Given the description of an element on the screen output the (x, y) to click on. 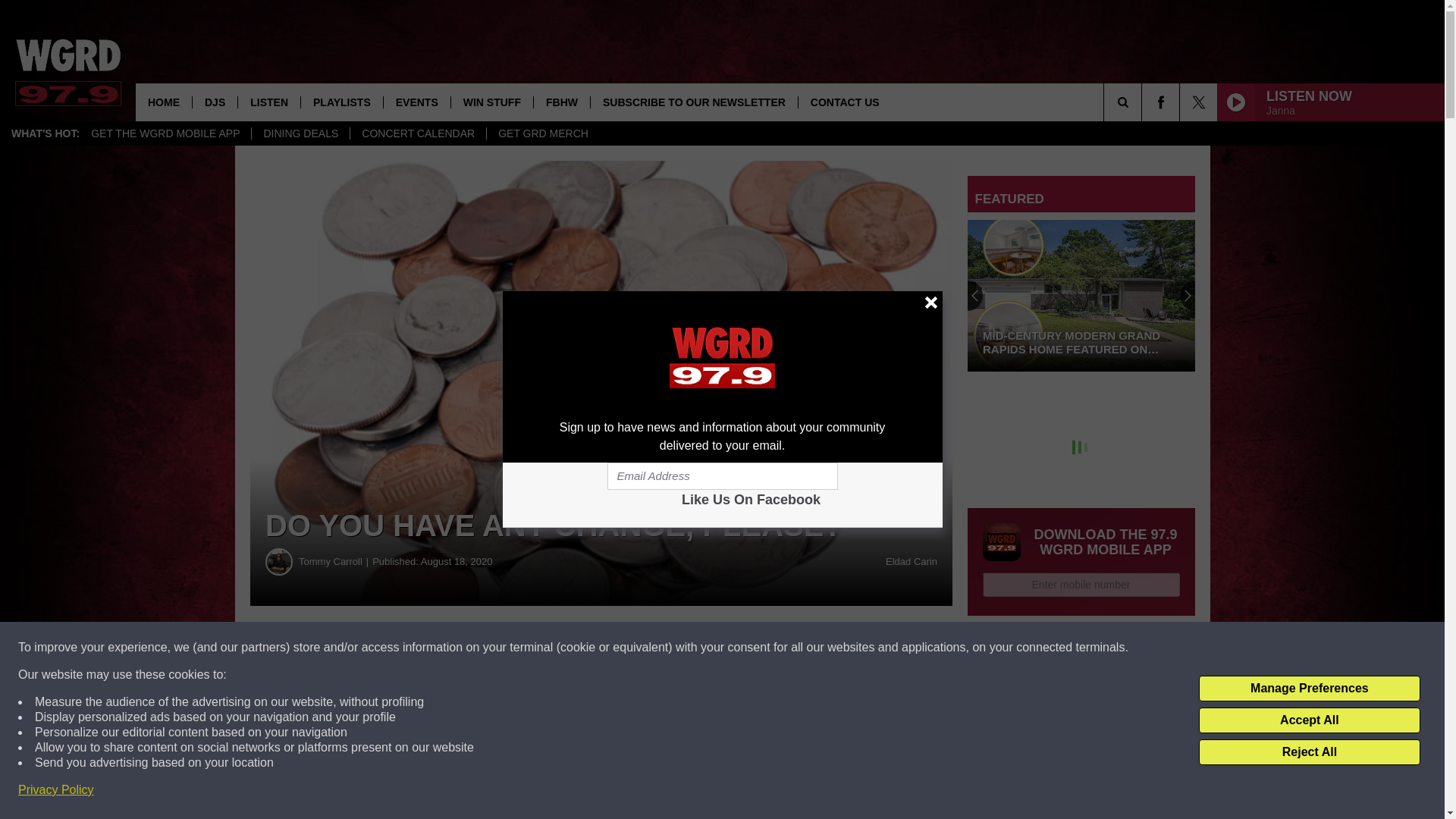
GET GRD MERCH (542, 133)
DJS (214, 102)
EVENTS (415, 102)
FBHW (560, 102)
Accept All (1309, 720)
DINING DEALS (299, 133)
GET THE WGRD MOBILE APP (165, 133)
PLAYLISTS (340, 102)
CONCERT CALENDAR (417, 133)
SUBSCRIBE TO OUR NEWSLETTER (693, 102)
Manage Preferences (1309, 688)
CONTACT US (844, 102)
SEARCH (1144, 102)
Email Address (722, 475)
Reject All (1309, 751)
